Given the description of an element on the screen output the (x, y) to click on. 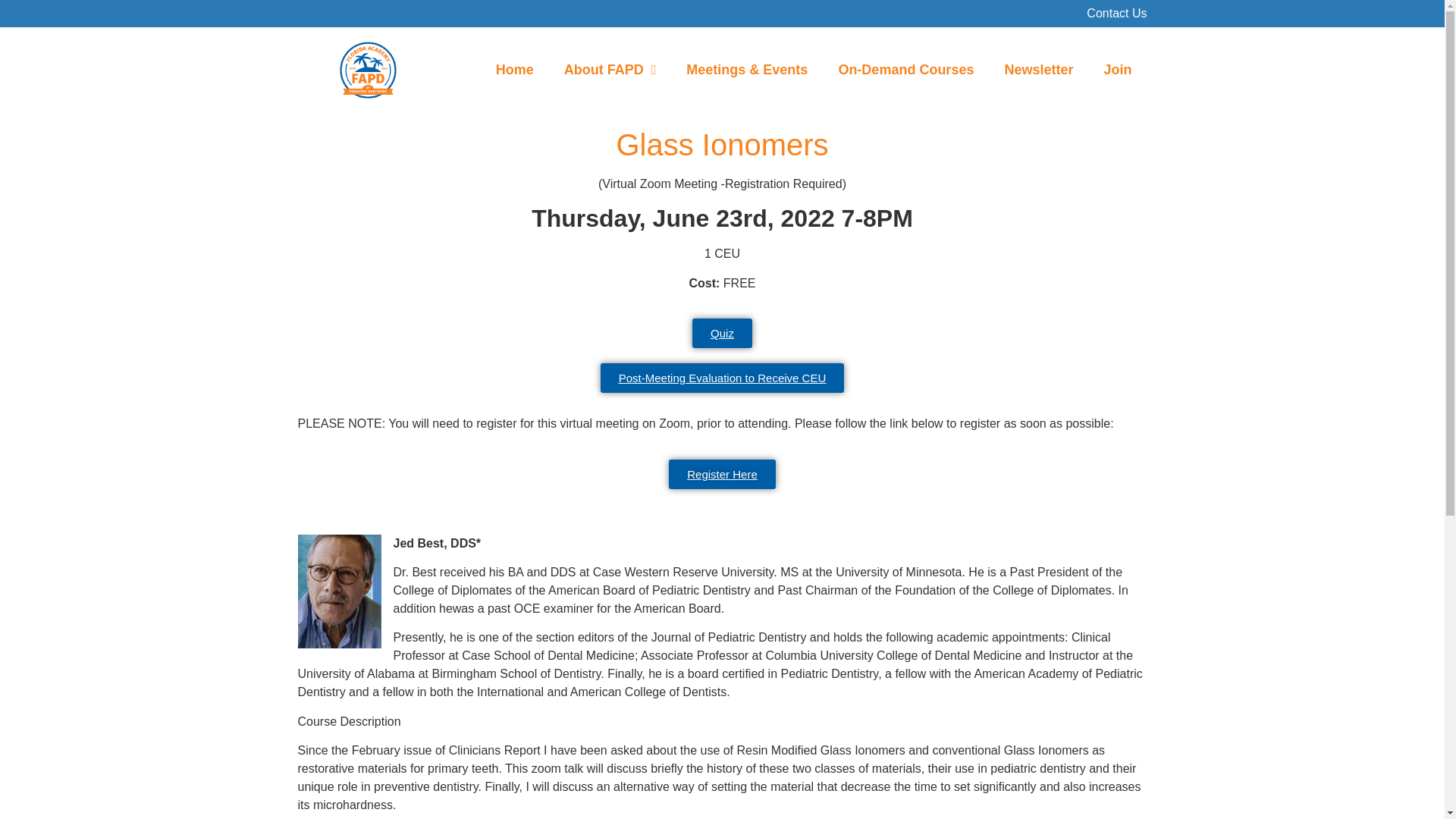
About FAPD (609, 69)
Newsletter (1037, 69)
Contact Us (1116, 12)
Home (514, 69)
On-Demand Courses (905, 69)
Join (1117, 69)
